Given the description of an element on the screen output the (x, y) to click on. 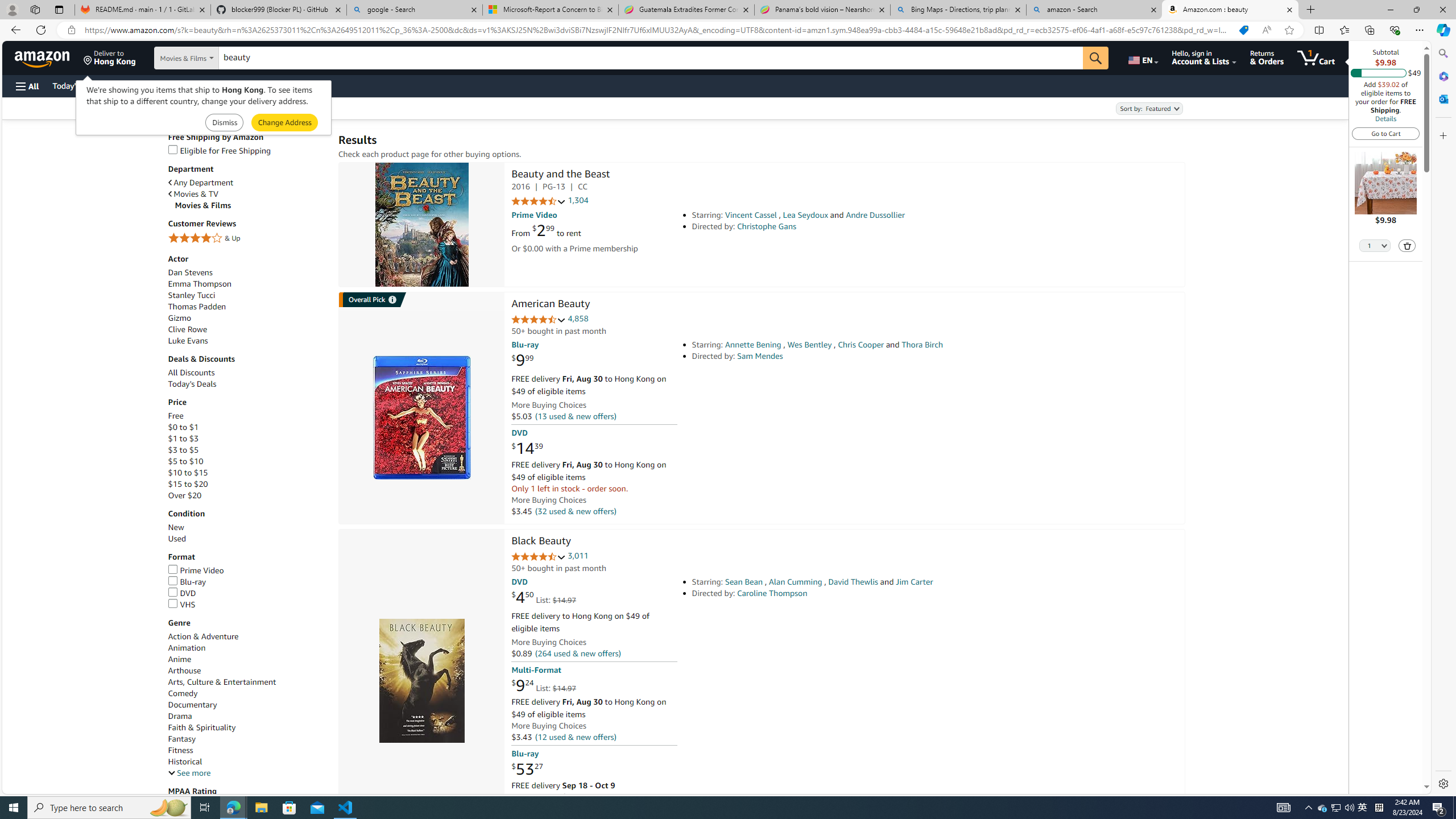
$15 to $20 (187, 484)
Customer Service (145, 85)
$1 to $3 (183, 438)
David Thewlis (852, 581)
Delete (1407, 245)
Directed by: Caroline Thompson (850, 593)
4.6 out of 5 stars (538, 319)
Anime (179, 659)
Directed by: Sam Mendes (850, 355)
Arthouse (183, 670)
